Given the description of an element on the screen output the (x, y) to click on. 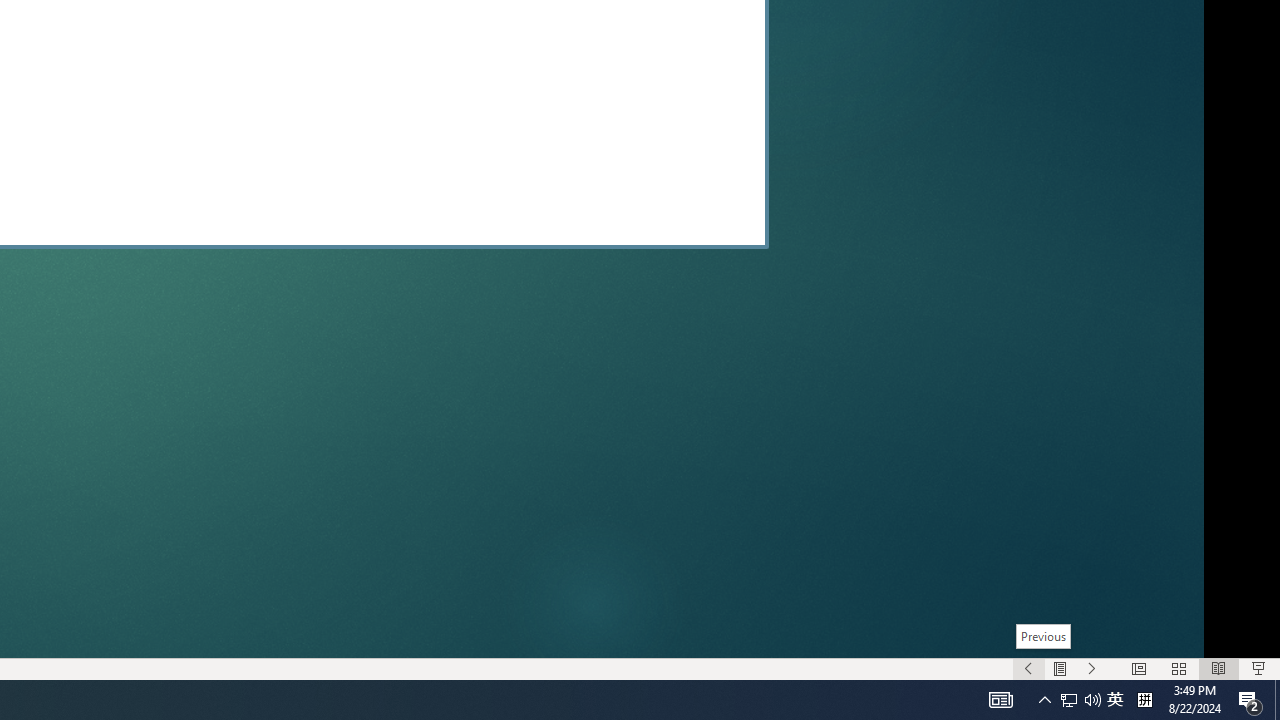
Slide Show Next On (1092, 668)
Slide Show Previous On (1028, 668)
Previous (1043, 636)
Menu On (1060, 668)
